Given the description of an element on the screen output the (x, y) to click on. 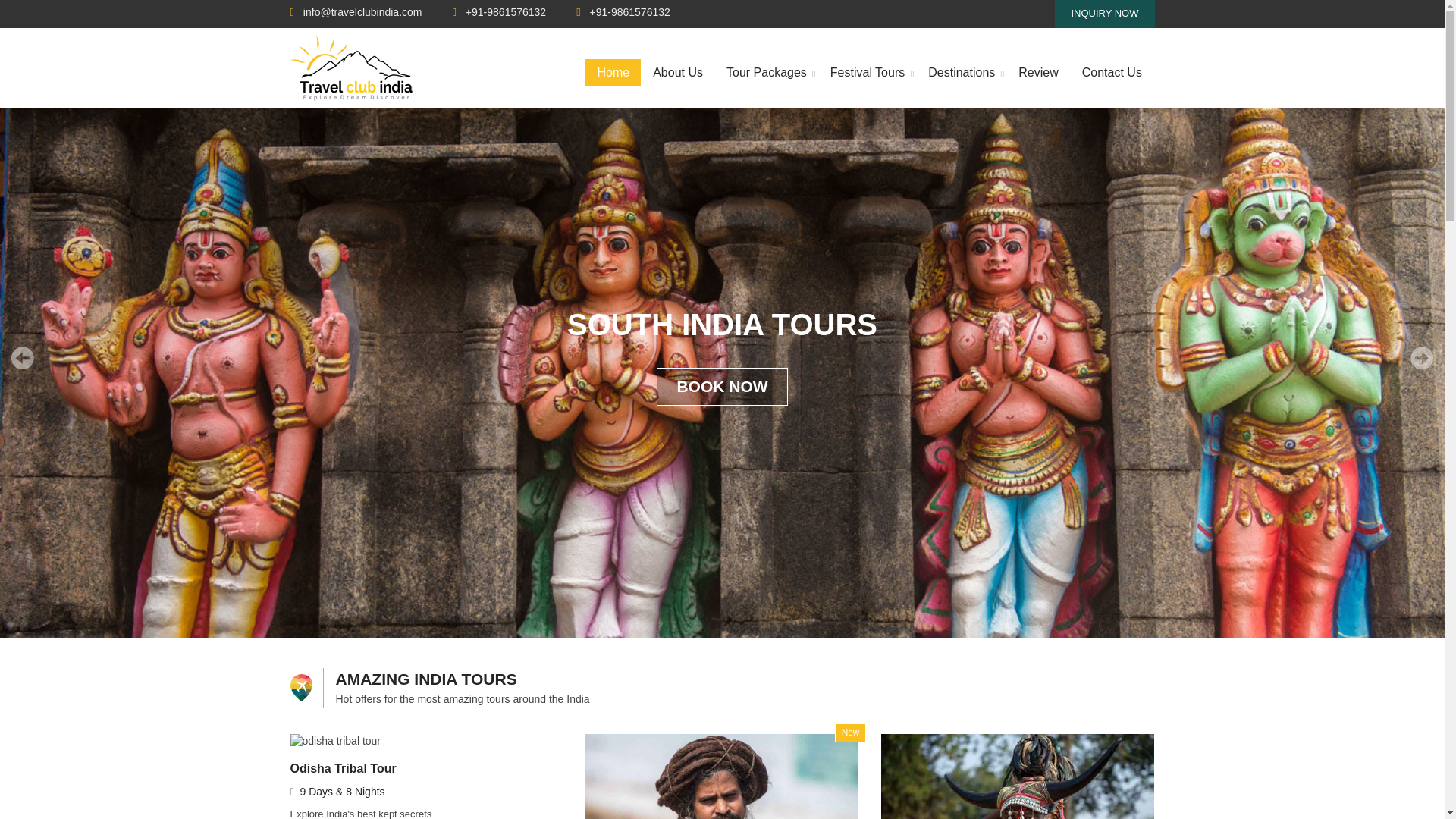
Destinations (961, 72)
Submit (561, 364)
Festival Tours (866, 72)
About Us (678, 72)
Tour Packages (766, 72)
INQUIRY NOW (1104, 13)
Home (612, 72)
